Given the description of an element on the screen output the (x, y) to click on. 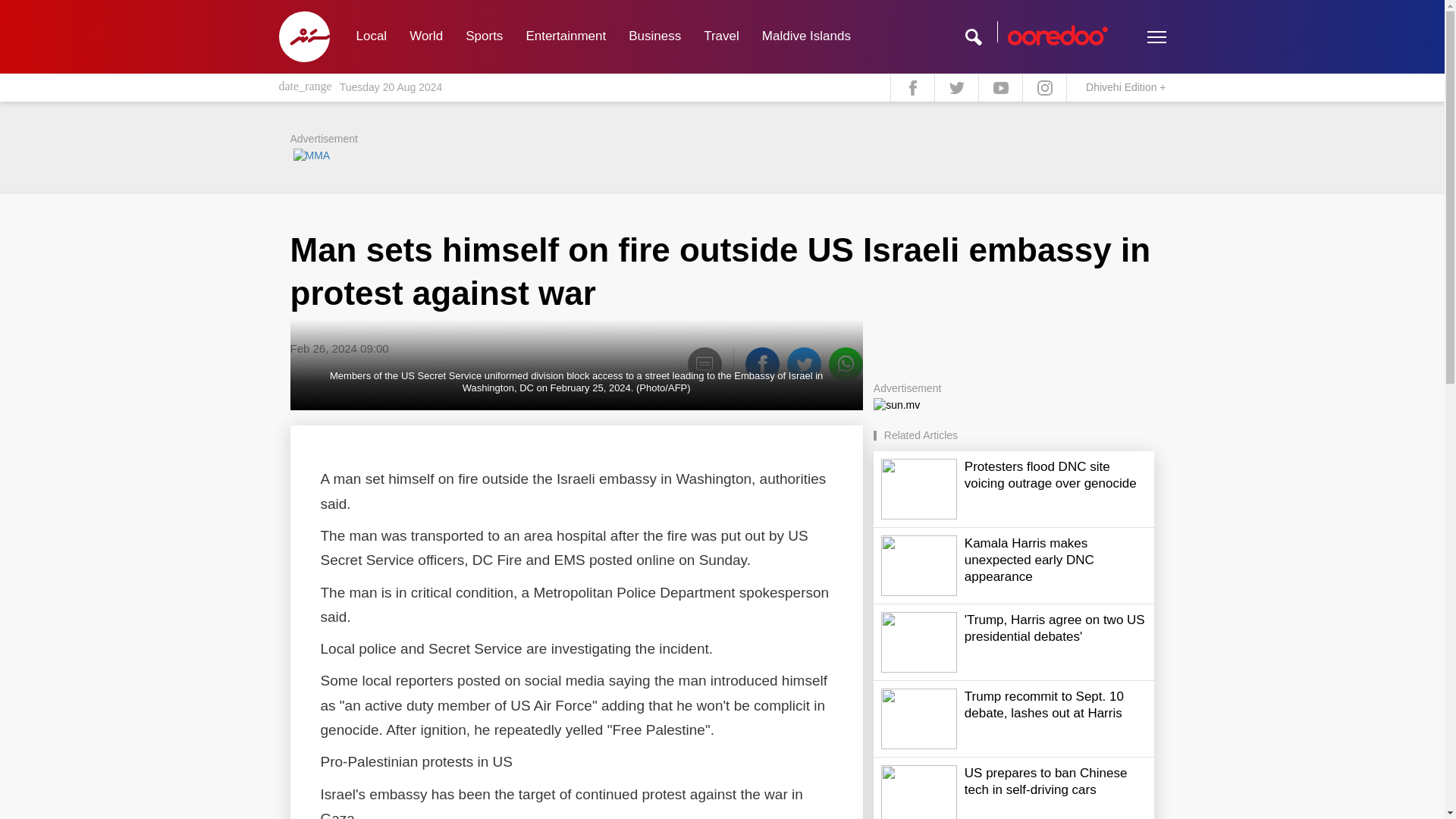
World (425, 36)
Maldive Islands (806, 36)
Travel (722, 36)
Entertainment (565, 36)
Local (370, 36)
Business (655, 36)
Sports (483, 36)
